Given the description of an element on the screen output the (x, y) to click on. 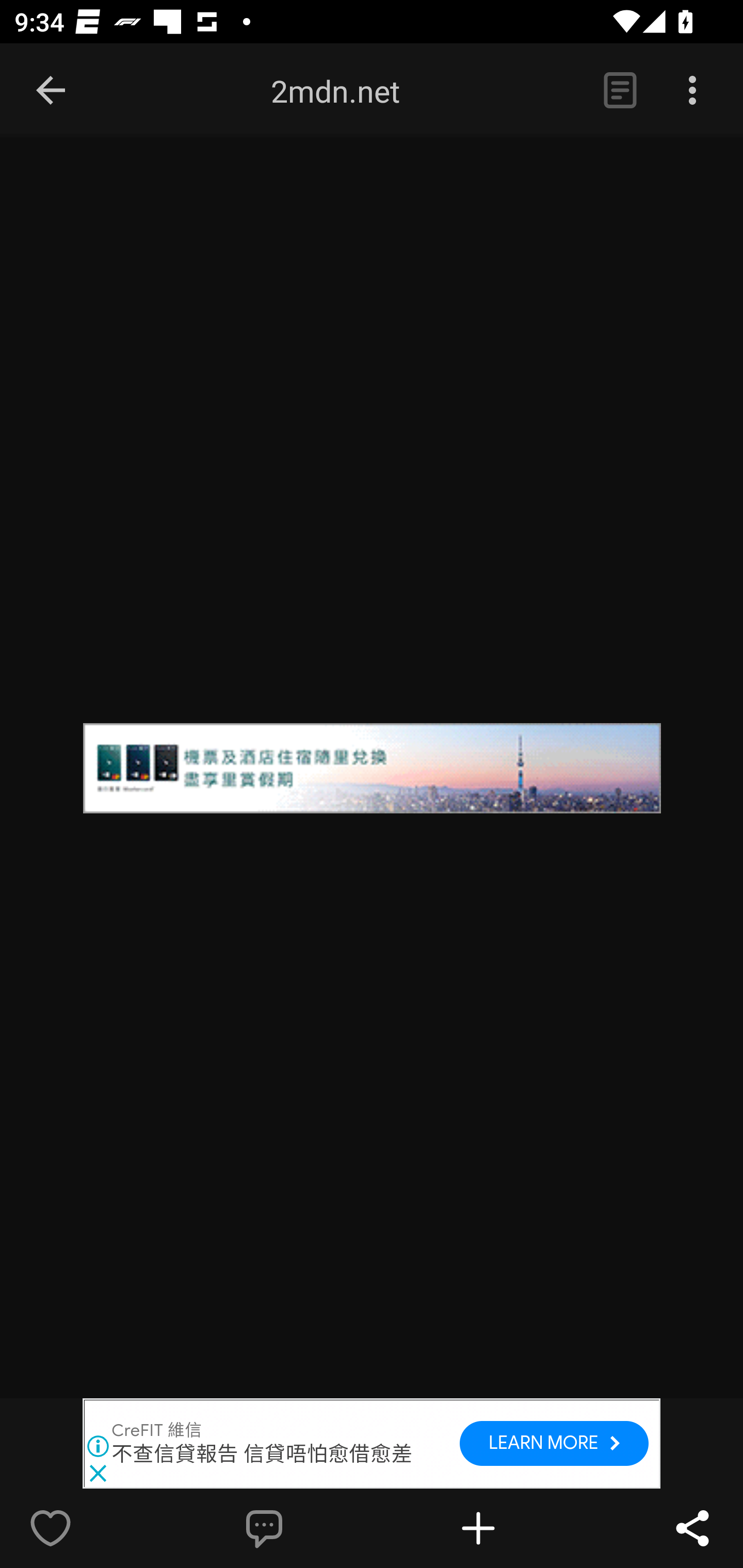
Back (50, 90)
Reader View (619, 90)
Options (692, 90)
CreFIT 維信 (157, 1431)
LEARN MORE (553, 1443)
不查信貸報告 信貸唔怕愈借愈差 (262, 1454)
Like (93, 1528)
Write a comment… (307, 1528)
Flip into Magazine (521, 1528)
Share (692, 1528)
